Given the description of an element on the screen output the (x, y) to click on. 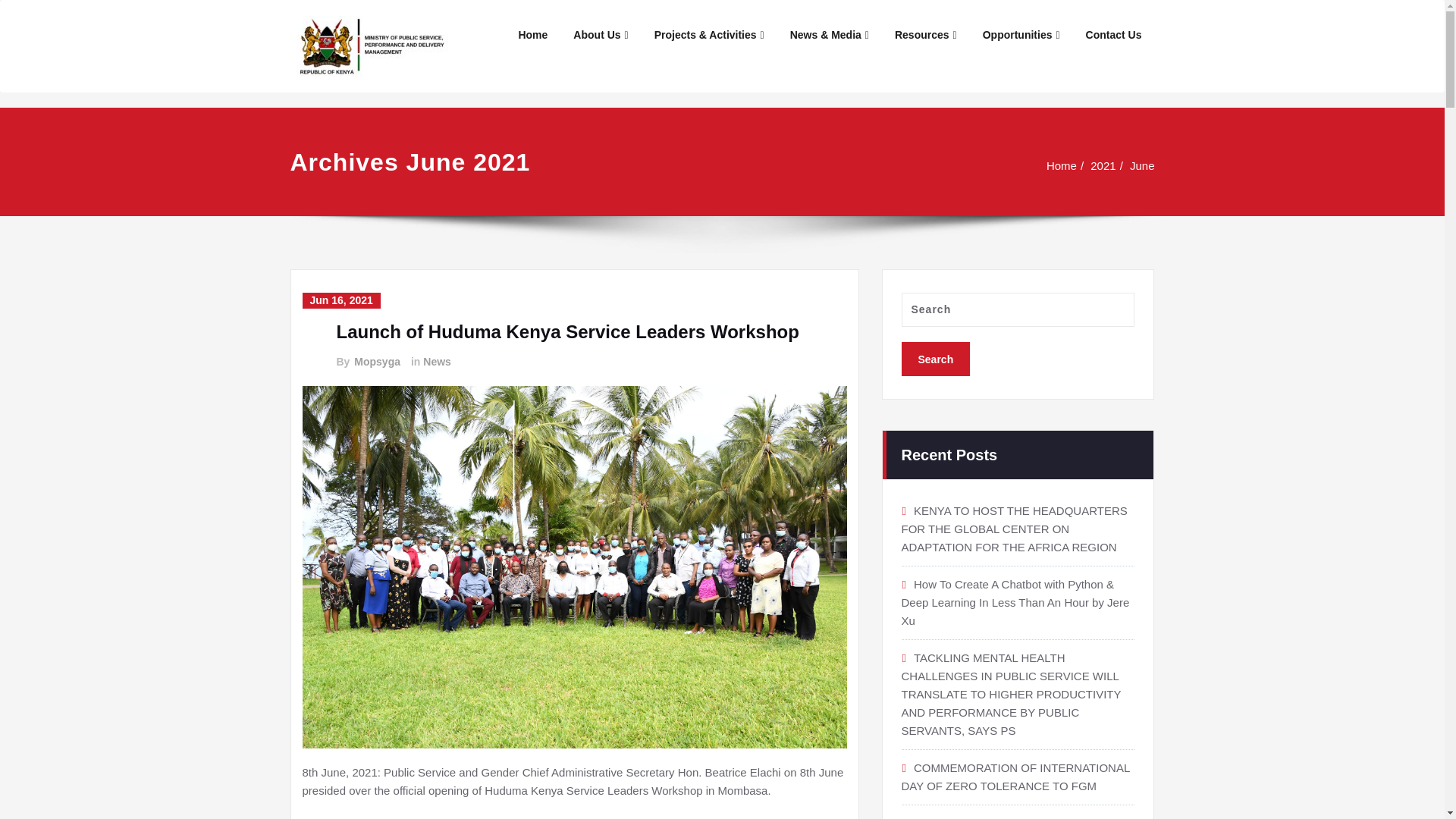
Search (935, 358)
Resources (925, 34)
Opportunities (1021, 34)
Jun 16, 2021 (340, 300)
June (1147, 164)
Contact Us (1113, 34)
News (436, 361)
Search (935, 358)
2021 (1106, 164)
Mopsyga (376, 361)
Launch of Huduma Kenya Service Leaders Workshop (567, 331)
About Us (600, 34)
Home (1061, 164)
